Given the description of an element on the screen output the (x, y) to click on. 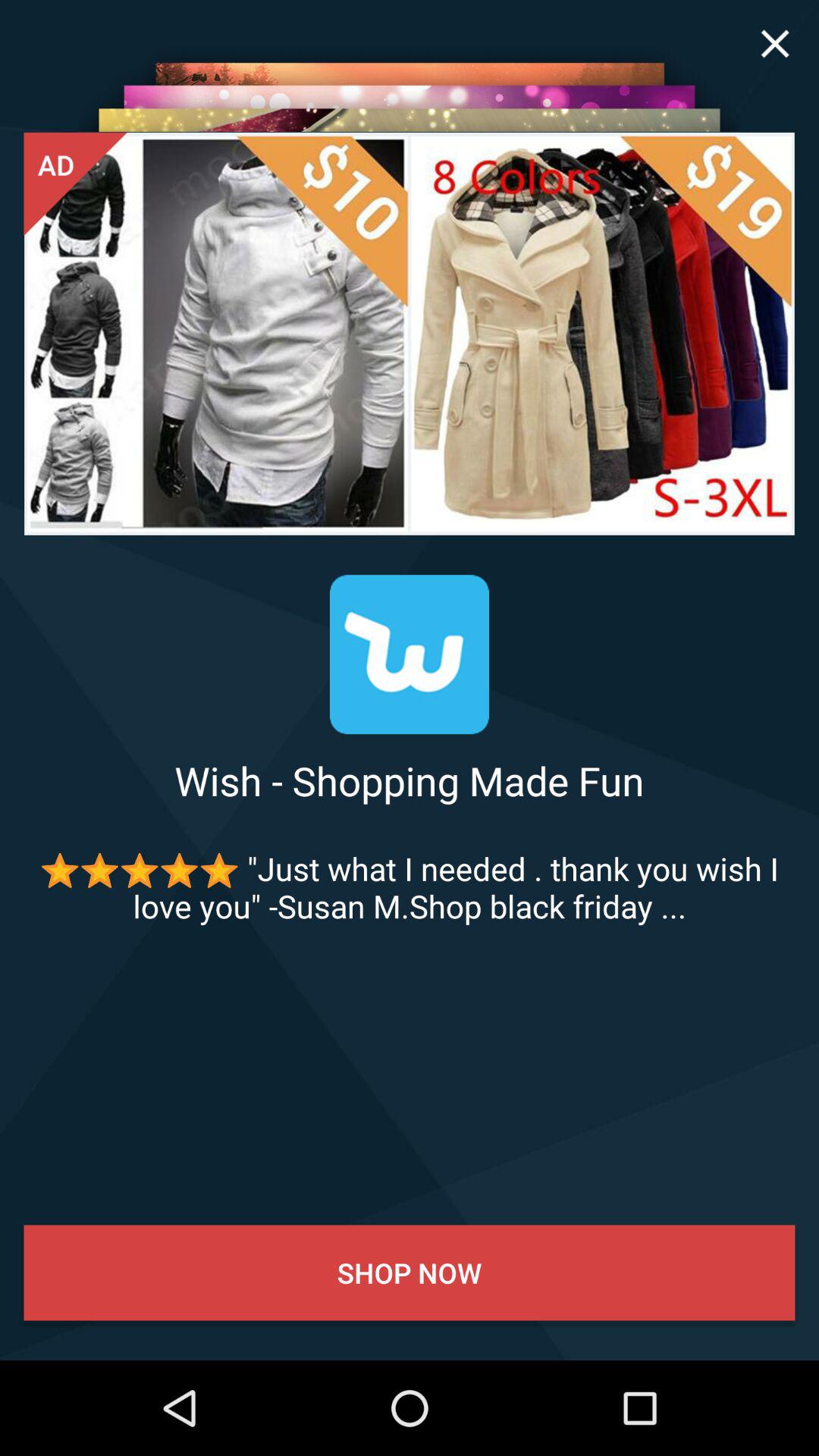
click the icon below the wish shopping made (409, 886)
